Given the description of an element on the screen output the (x, y) to click on. 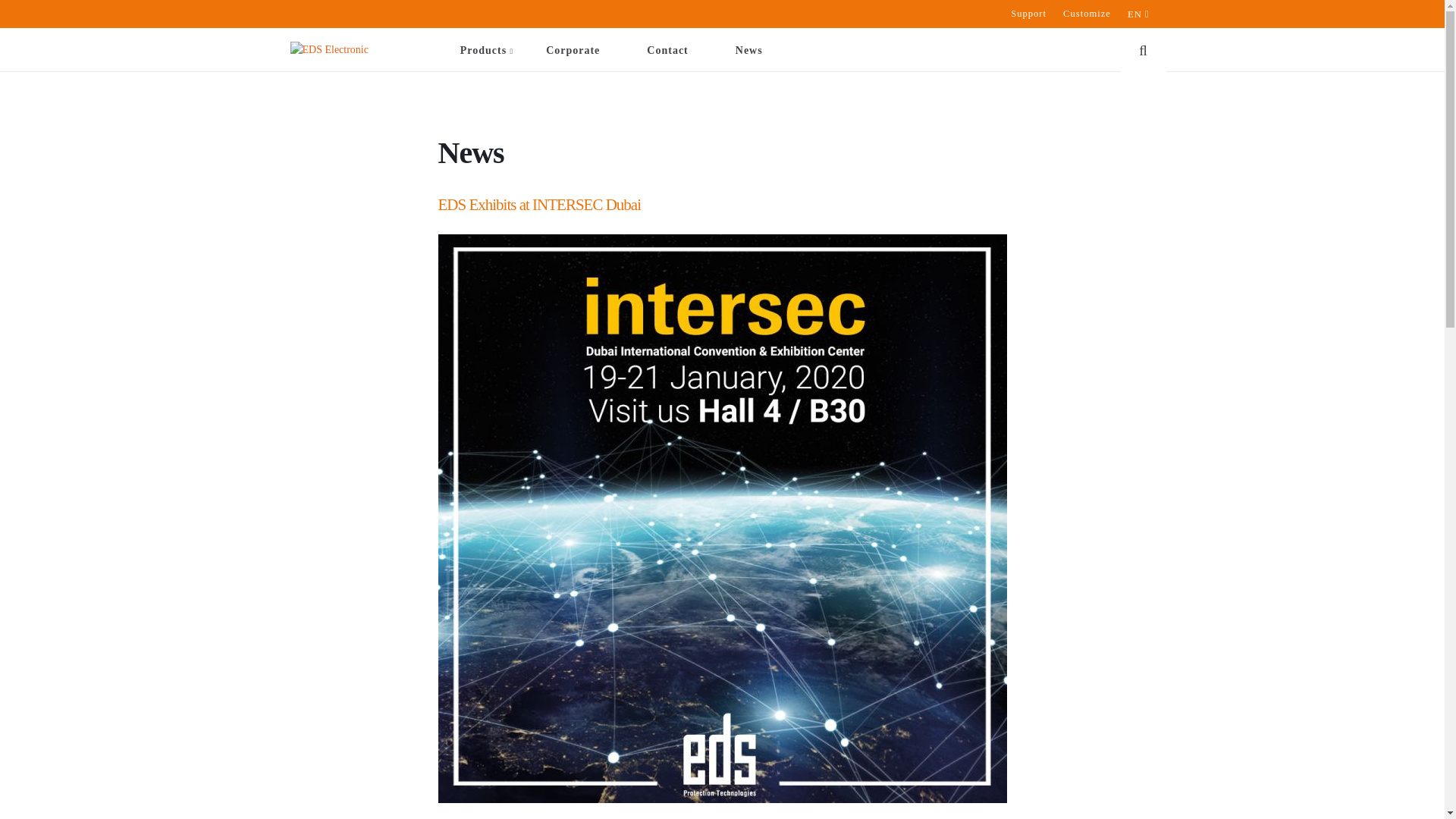
EDS Electronic (328, 48)
EN (1139, 13)
Support (1020, 13)
Customize (1079, 13)
